Given the description of an element on the screen output the (x, y) to click on. 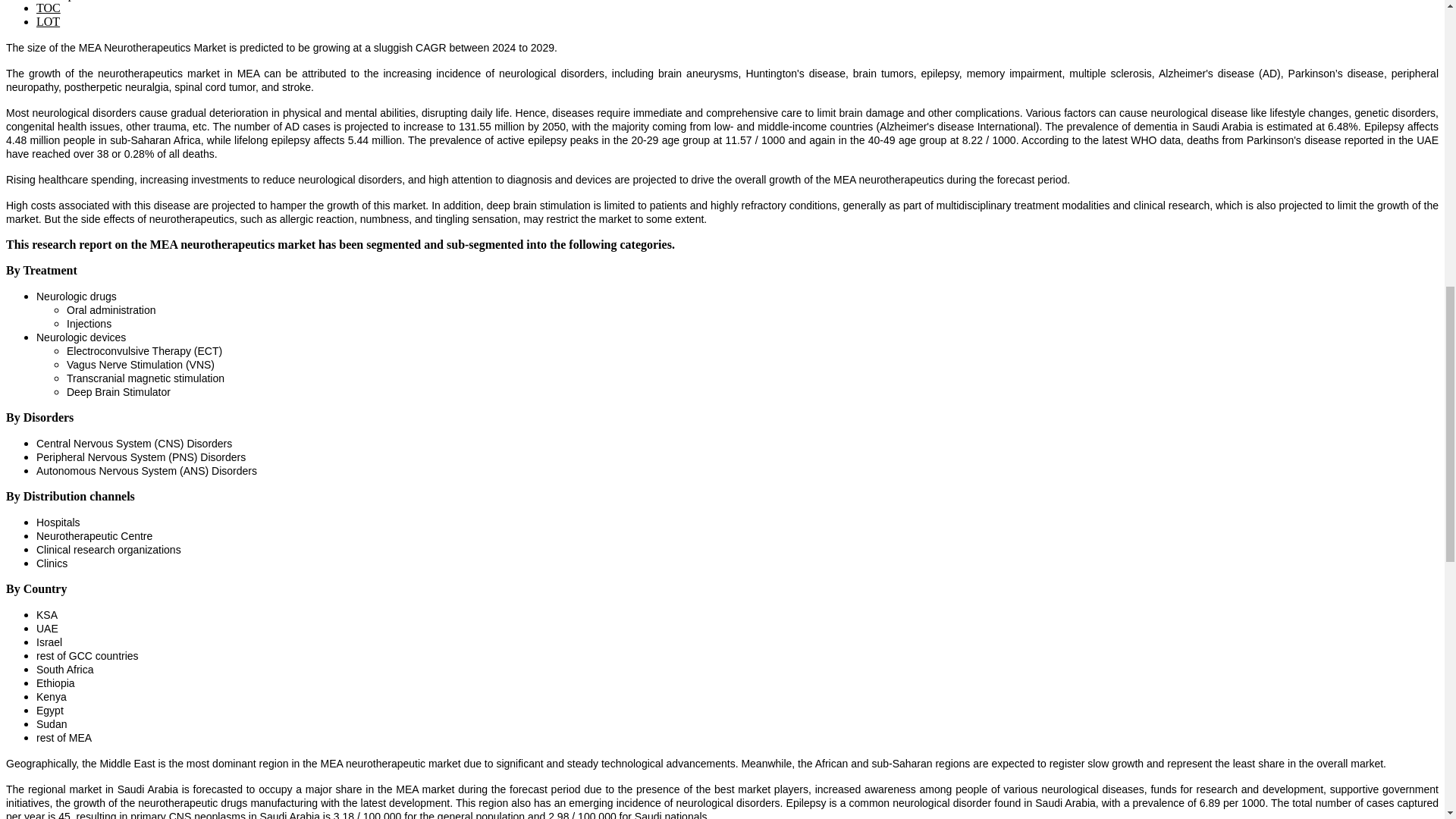
Description (64, 0)
TOC (48, 7)
LOT (47, 21)
